Given the description of an element on the screen output the (x, y) to click on. 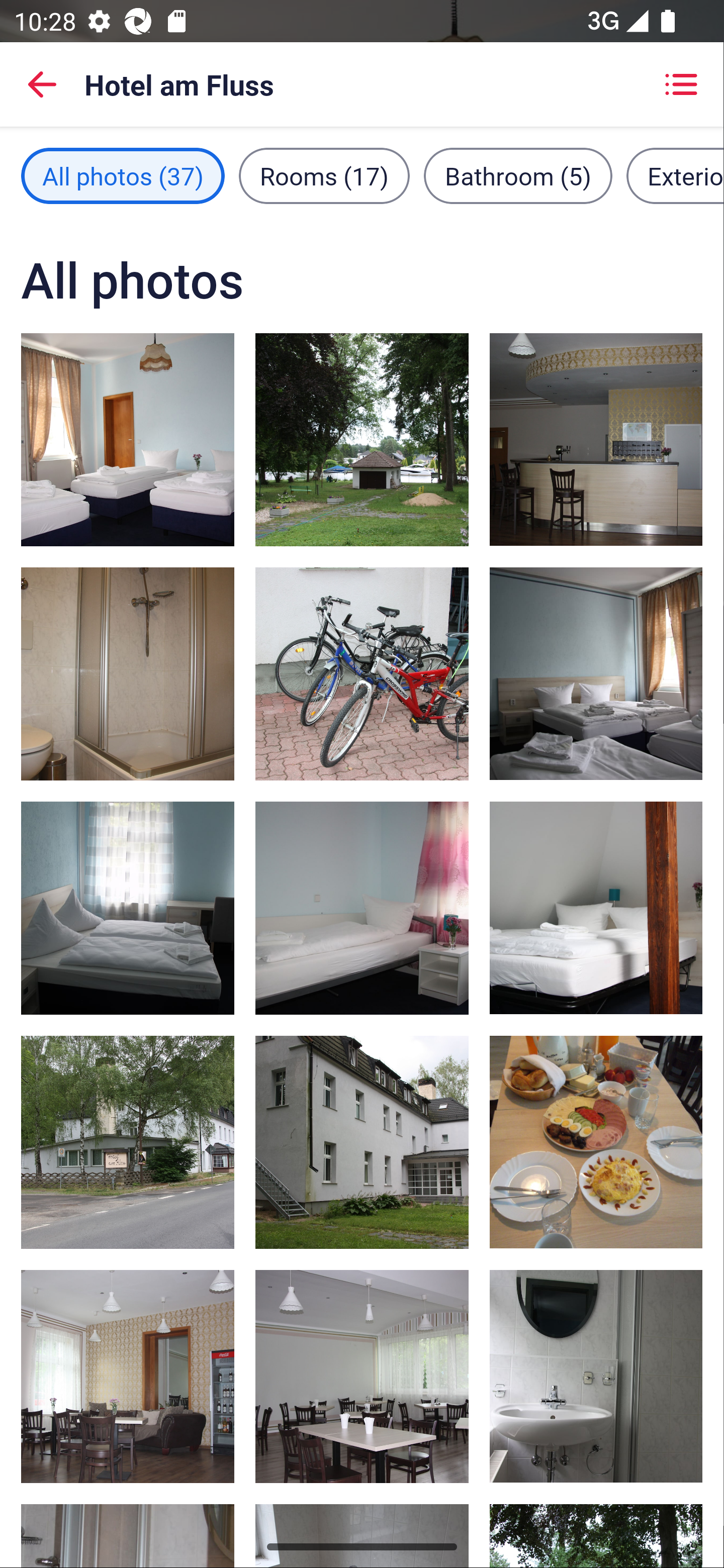
Back (42, 84)
Showing grid view (681, 84)
All photos filter, 37 images (122, 175)
Rooms filter, 17 images (323, 175)
Bathroom filter, 5 images (517, 175)
Exterior filter, 5 images (674, 175)
View from property, image (361, 438)
Bar (on property), image (595, 438)
Bicycling, image (361, 673)
Exterior, image (127, 1142)
Courtyard, image (361, 1142)
Free daily buffet breakfast, image (595, 1142)
Lobby sitting area, image (127, 1376)
German cuisine, image (361, 1376)
Free toiletries, hair dryer, towels, image (595, 1376)
